Given the description of an element on the screen output the (x, y) to click on. 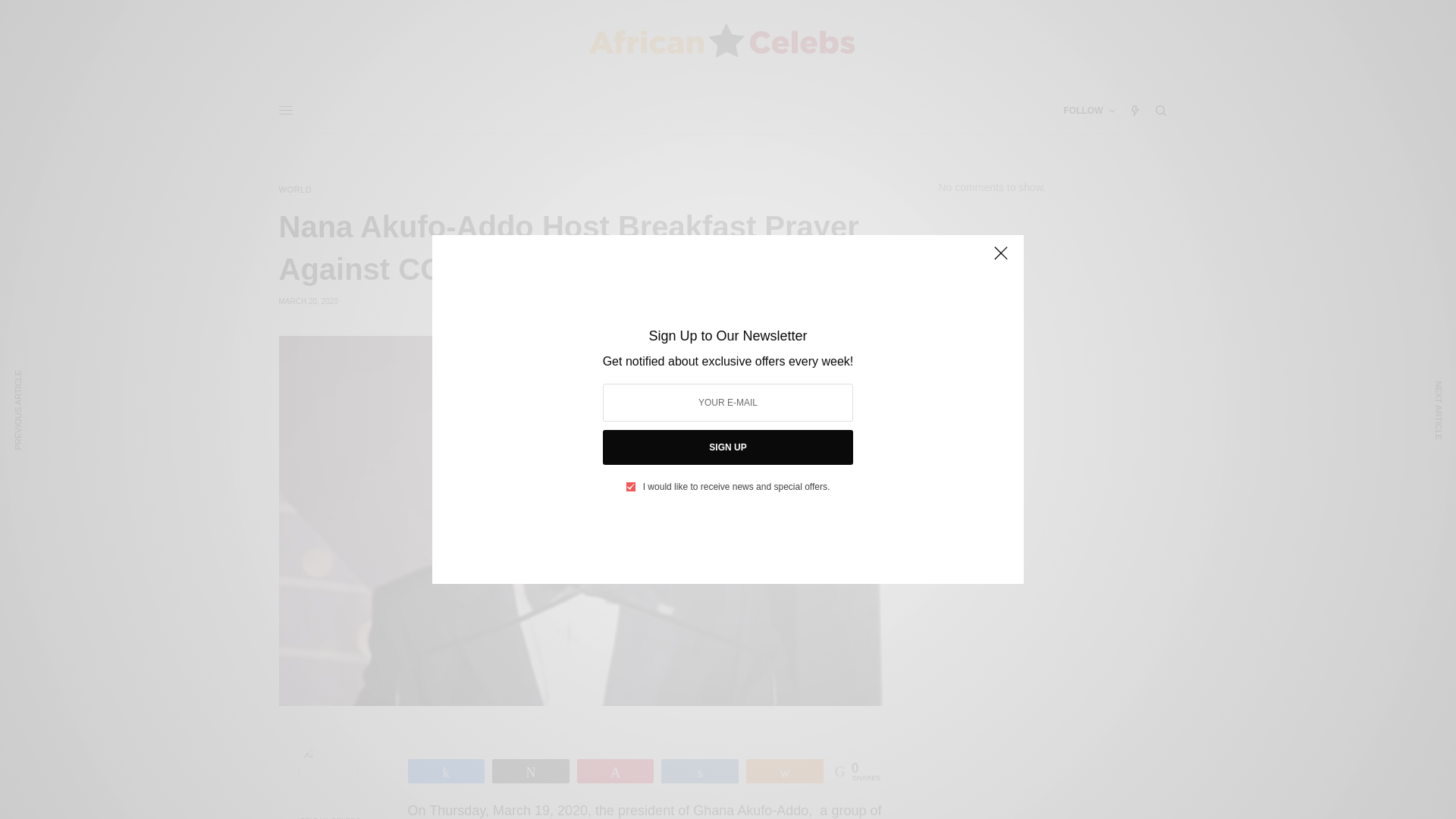
WORLD (296, 189)
SIGN UP (727, 447)
African Celebs (720, 43)
FOLLOW (1089, 110)
